Given the description of an element on the screen output the (x, y) to click on. 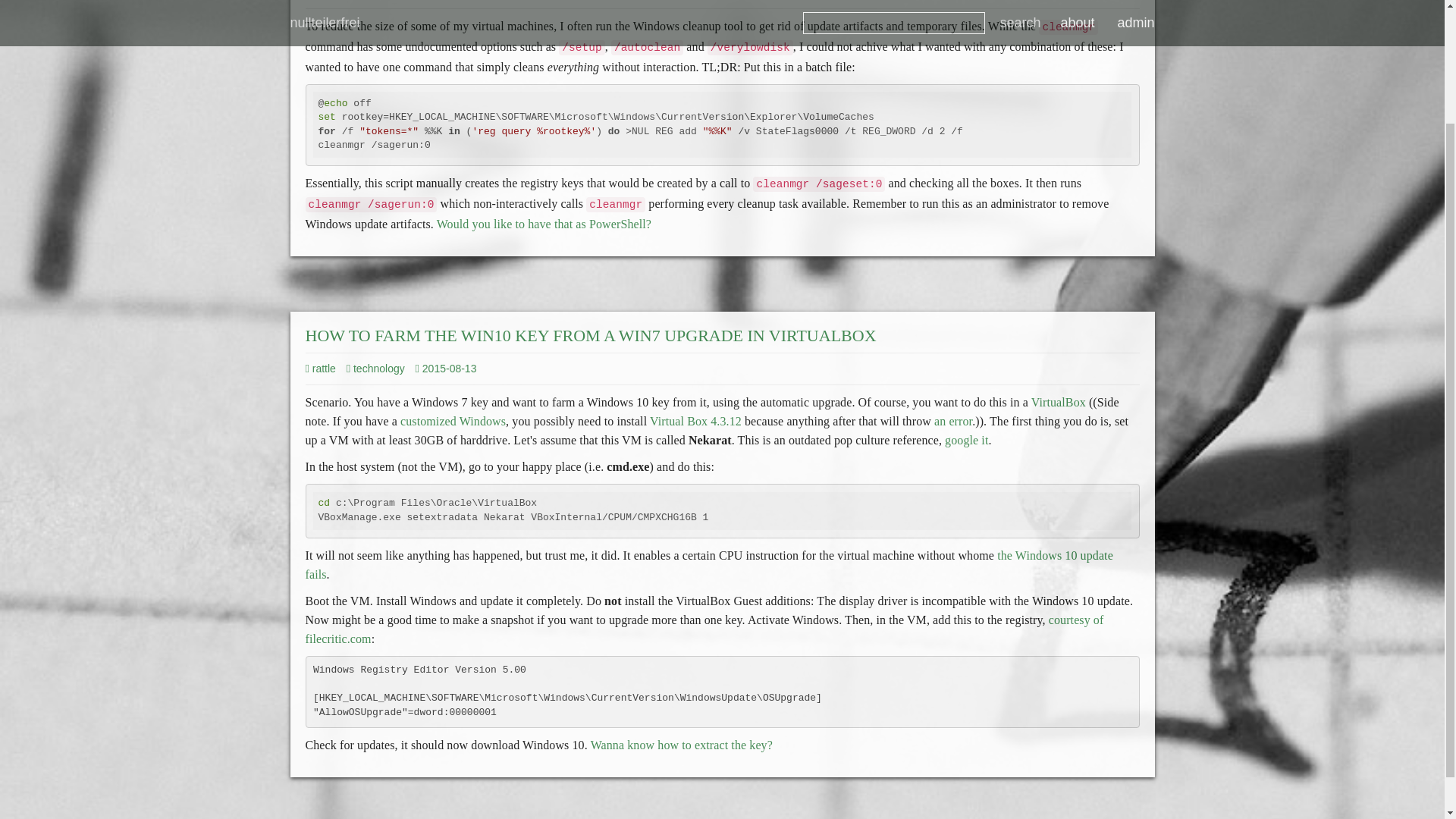
customized Windows (452, 420)
Would you like to have that as PowerShell? (543, 223)
Wanna know how to extract the key? (682, 744)
VirtualBox (1058, 401)
Virtual Box 4.3.12 (695, 420)
technology (375, 368)
the Windows 10 update fails (708, 564)
google it (966, 440)
courtesy of filecritic.com (703, 629)
an error (953, 420)
How to farm the Win10 key from a Win7 Upgrade in VirtualBox (590, 334)
rattle (319, 368)
HOW TO FARM THE WIN10 KEY FROM A WIN7 UPGRADE IN VIRTUALBOX (590, 334)
2015-08-13 (449, 368)
